Given the description of an element on the screen output the (x, y) to click on. 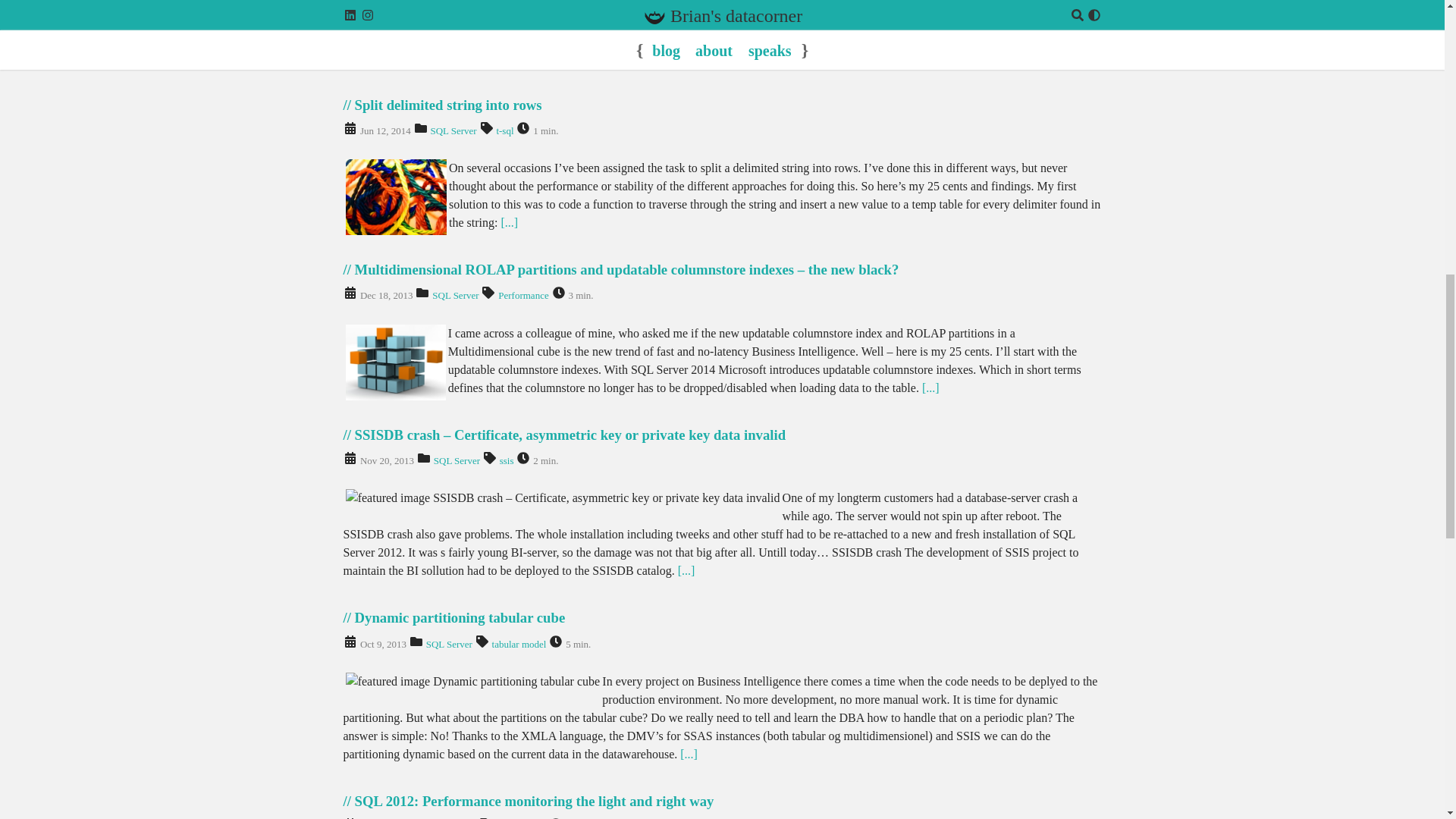
SQL Server (455, 295)
SQL Server (452, 130)
t-sql (504, 130)
Performance (522, 295)
